Given the description of an element on the screen output the (x, y) to click on. 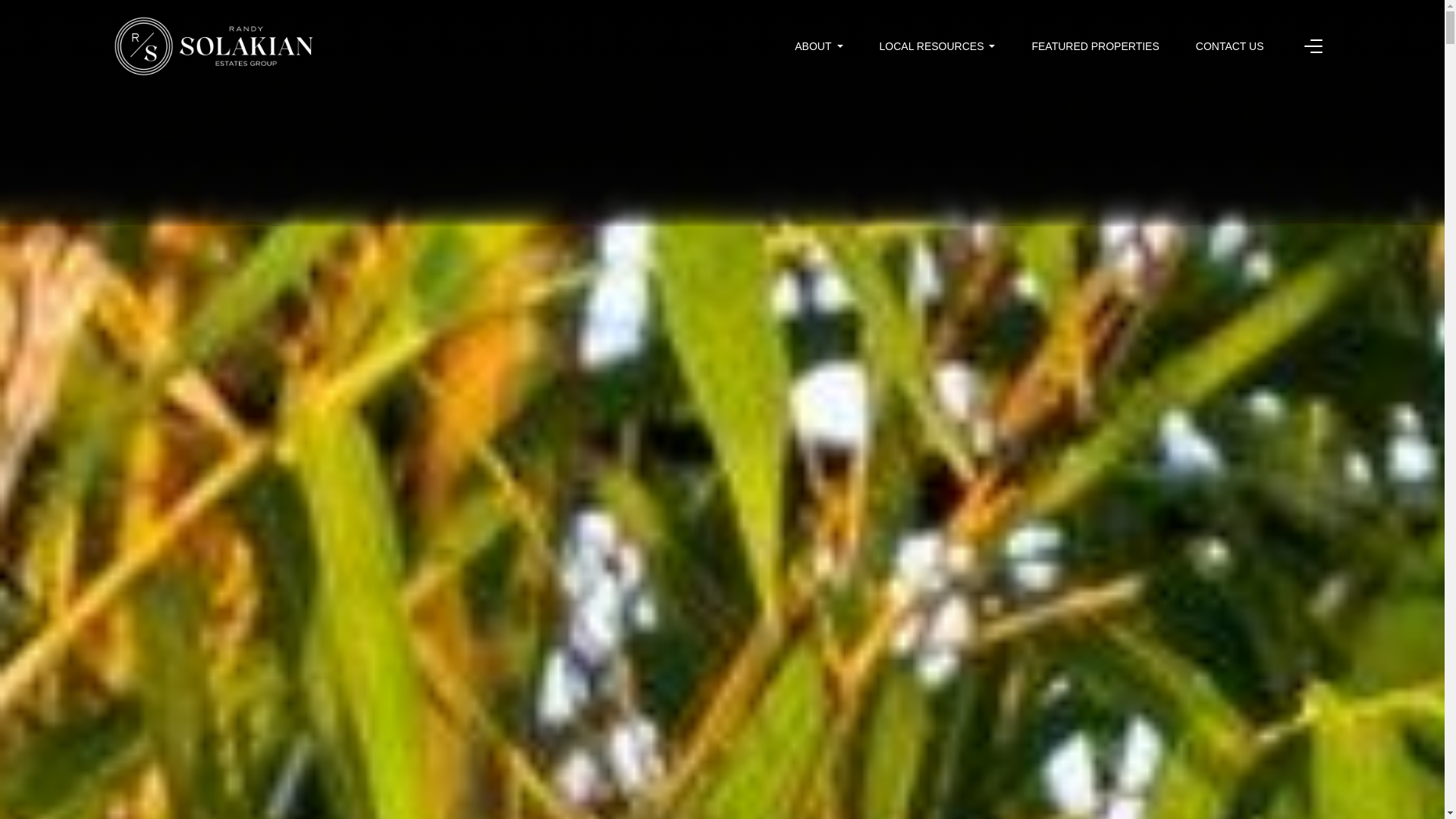
FEATURED PROPERTIES (1094, 46)
ABOUT (818, 46)
LOCAL RESOURCES (937, 46)
CONTACT US (1229, 46)
